Given the description of an element on the screen output the (x, y) to click on. 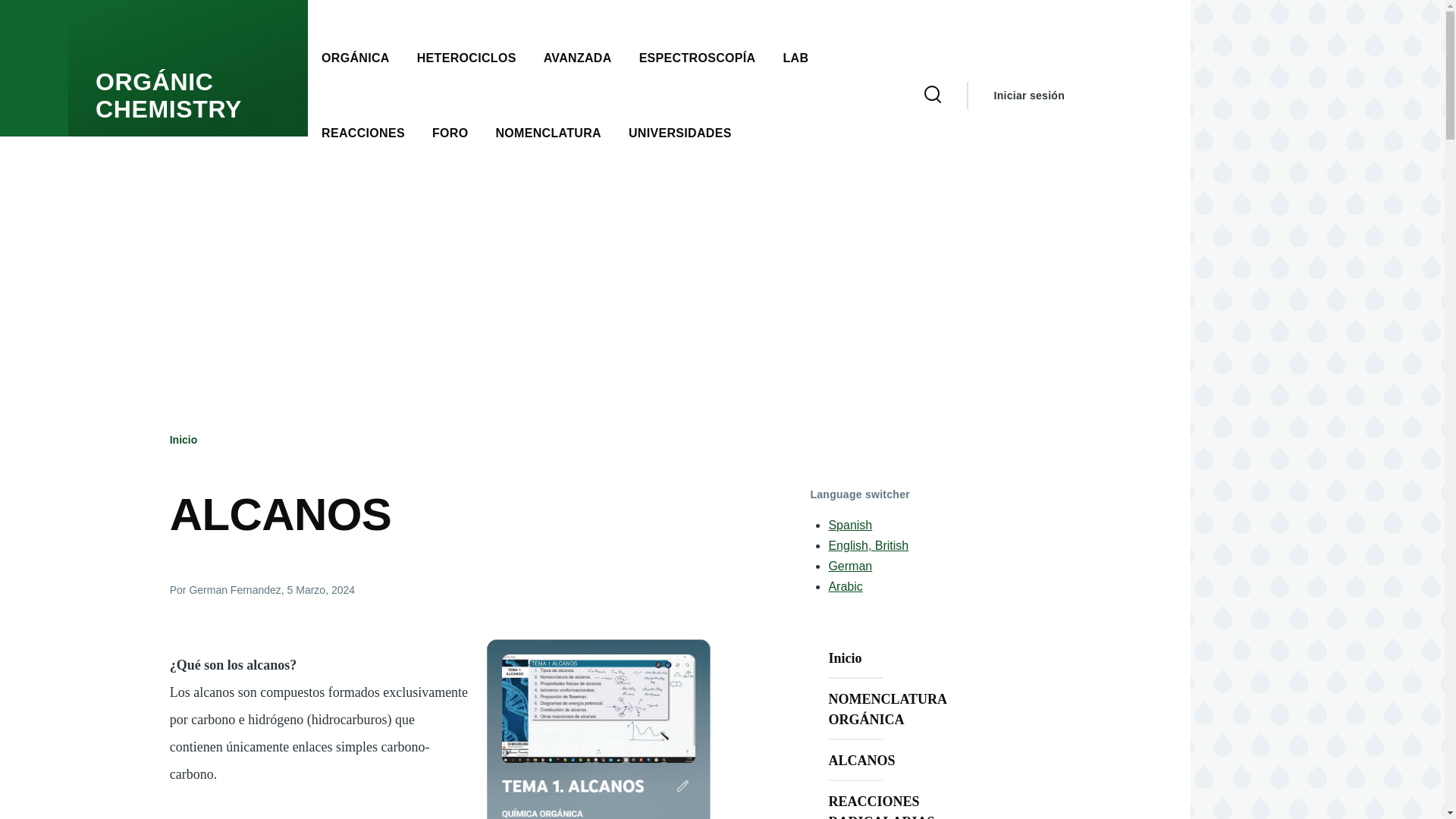
English, British (868, 545)
UNIVERSIDADES (680, 132)
Arabic (844, 585)
AVANZADA (577, 57)
Inicio (184, 439)
Pasar al contenido principal (595, 6)
Spanish (850, 524)
Inicio (911, 658)
HETEROCICLOS (466, 57)
